Given the description of an element on the screen output the (x, y) to click on. 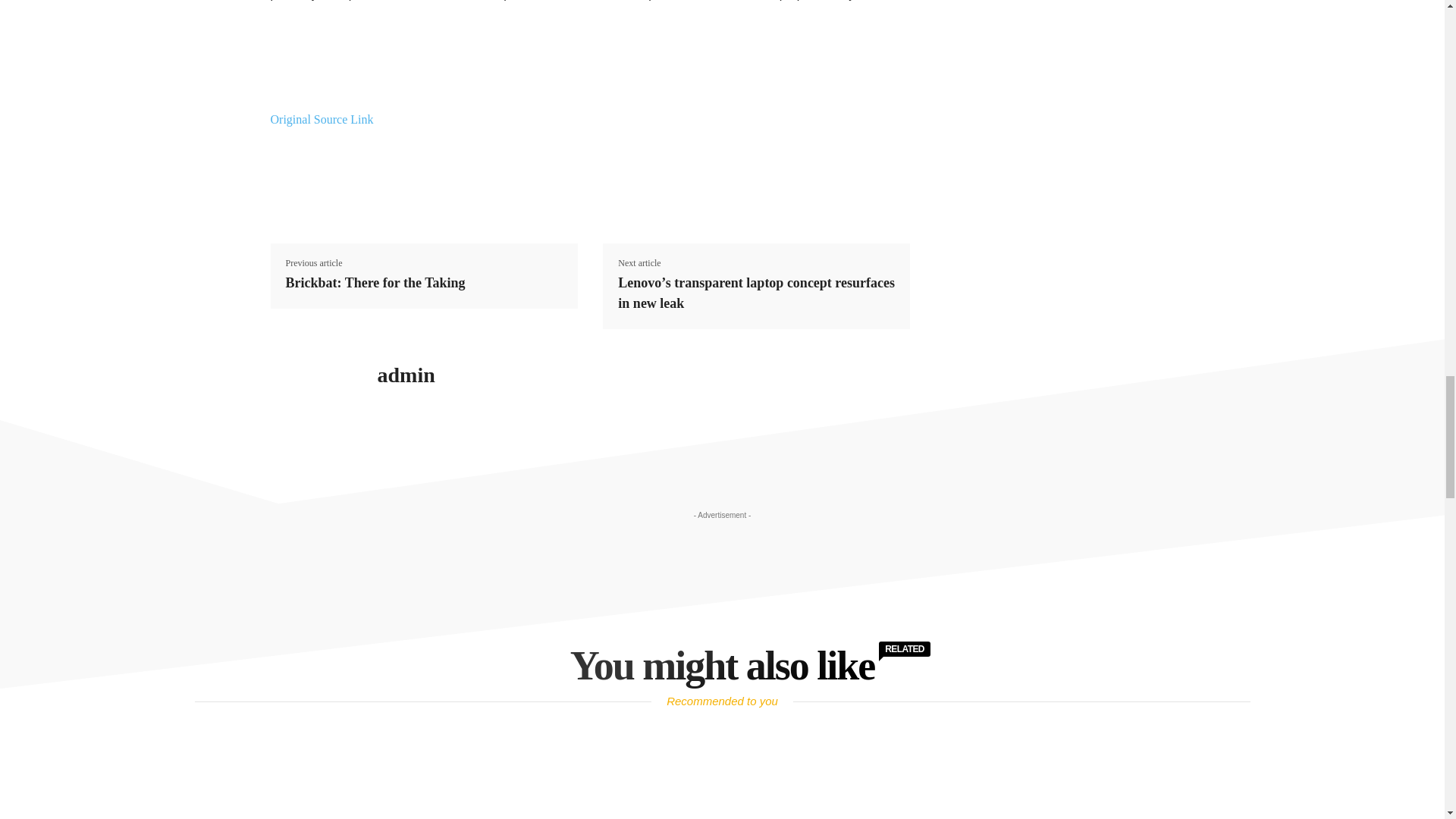
Original Source Link (320, 119)
